Given the description of an element on the screen output the (x, y) to click on. 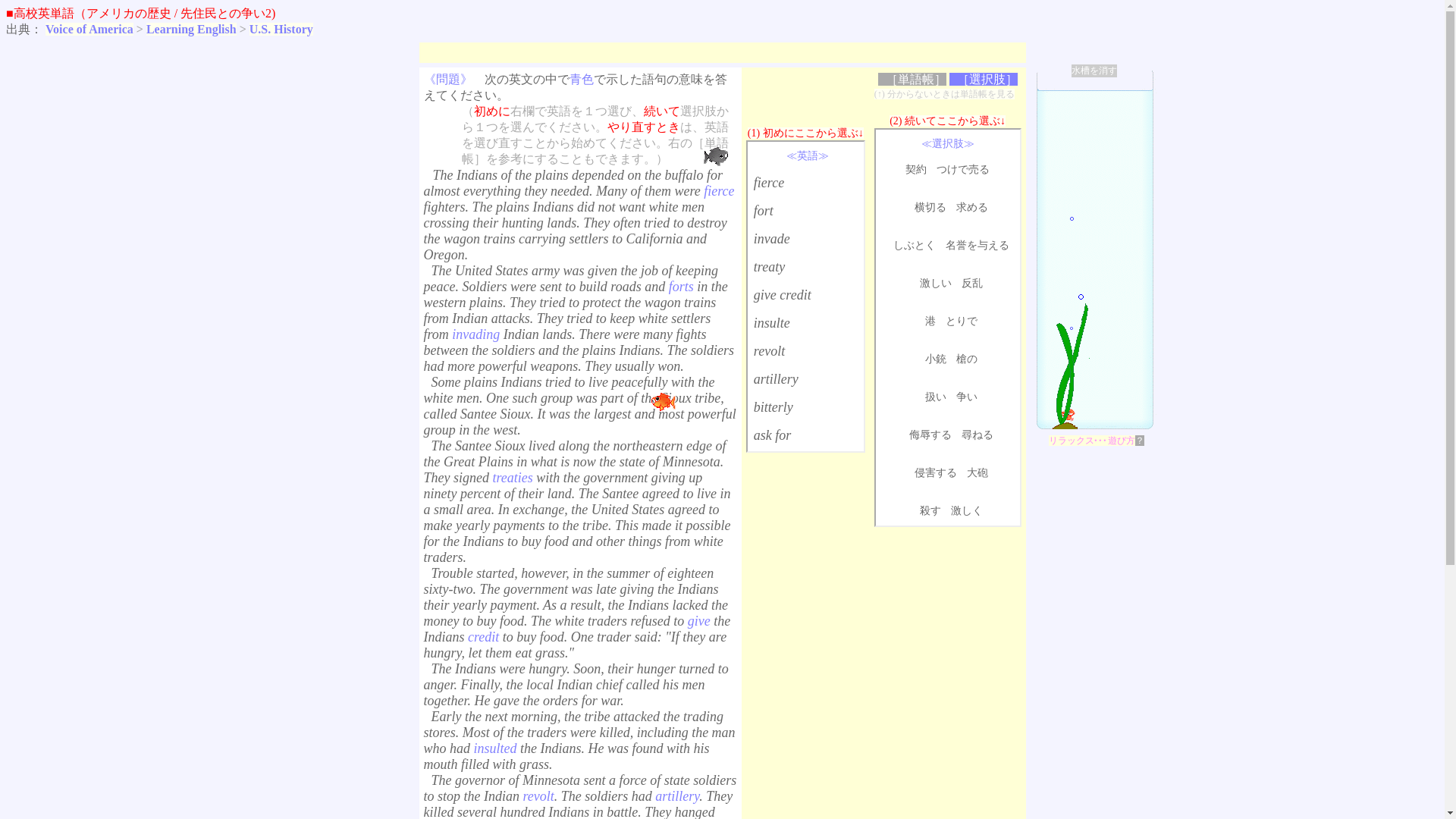
Advertisement (805, 568)
Learning English (191, 29)
invade (772, 238)
ask for (773, 435)
insulte (772, 322)
U.S. History (280, 29)
artillery (775, 378)
revolt (769, 350)
Advertisement (947, 574)
fort (763, 210)
fierce (769, 182)
bitterly (773, 406)
Voice of America (89, 29)
treaty (769, 266)
give credit (782, 294)
